Given the description of an element on the screen output the (x, y) to click on. 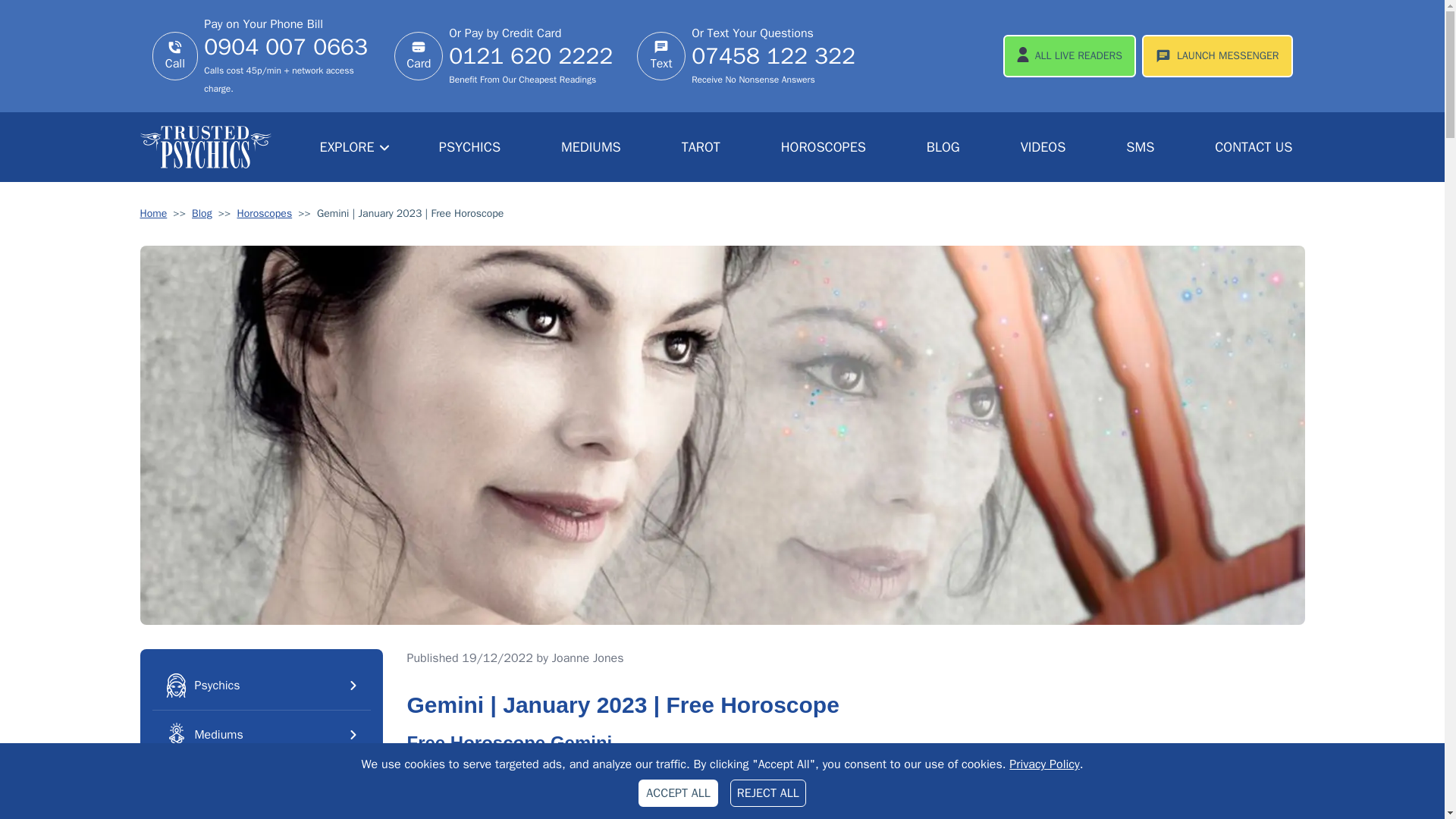
0904 007 0663 (289, 54)
BLOG (943, 146)
EXPLORE (355, 146)
07458 122 322 (773, 64)
PSYCHICS (469, 146)
Tarot (260, 784)
TAROT (700, 146)
SMS (1139, 146)
Horoscopes (263, 213)
MEDIUMS (590, 146)
